Given the description of an element on the screen output the (x, y) to click on. 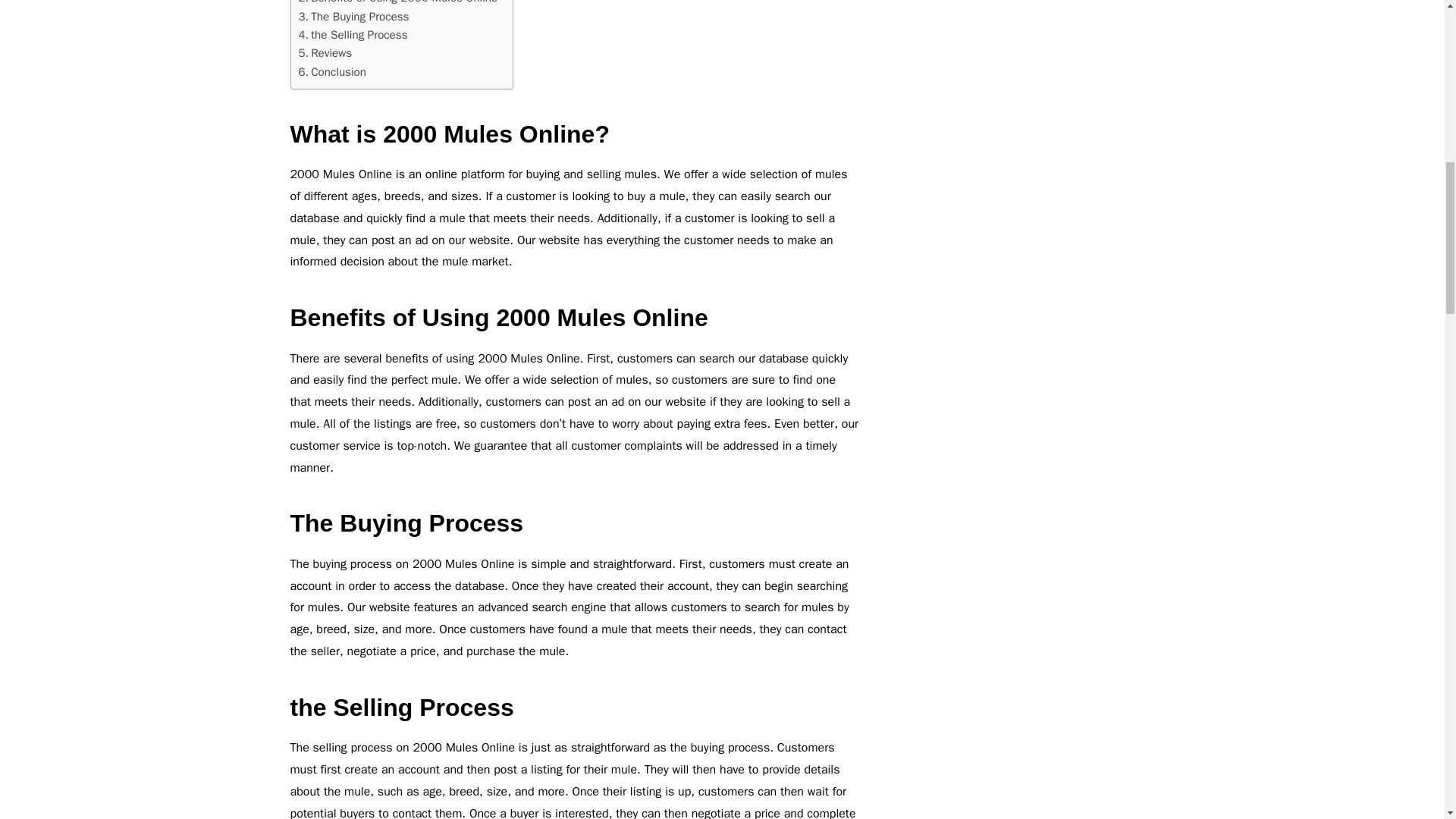
the Selling Process (352, 34)
The Buying Process (353, 16)
Benefits of Using 2000 Mules Online (397, 3)
Reviews (325, 53)
Conclusion (332, 72)
